Given the description of an element on the screen output the (x, y) to click on. 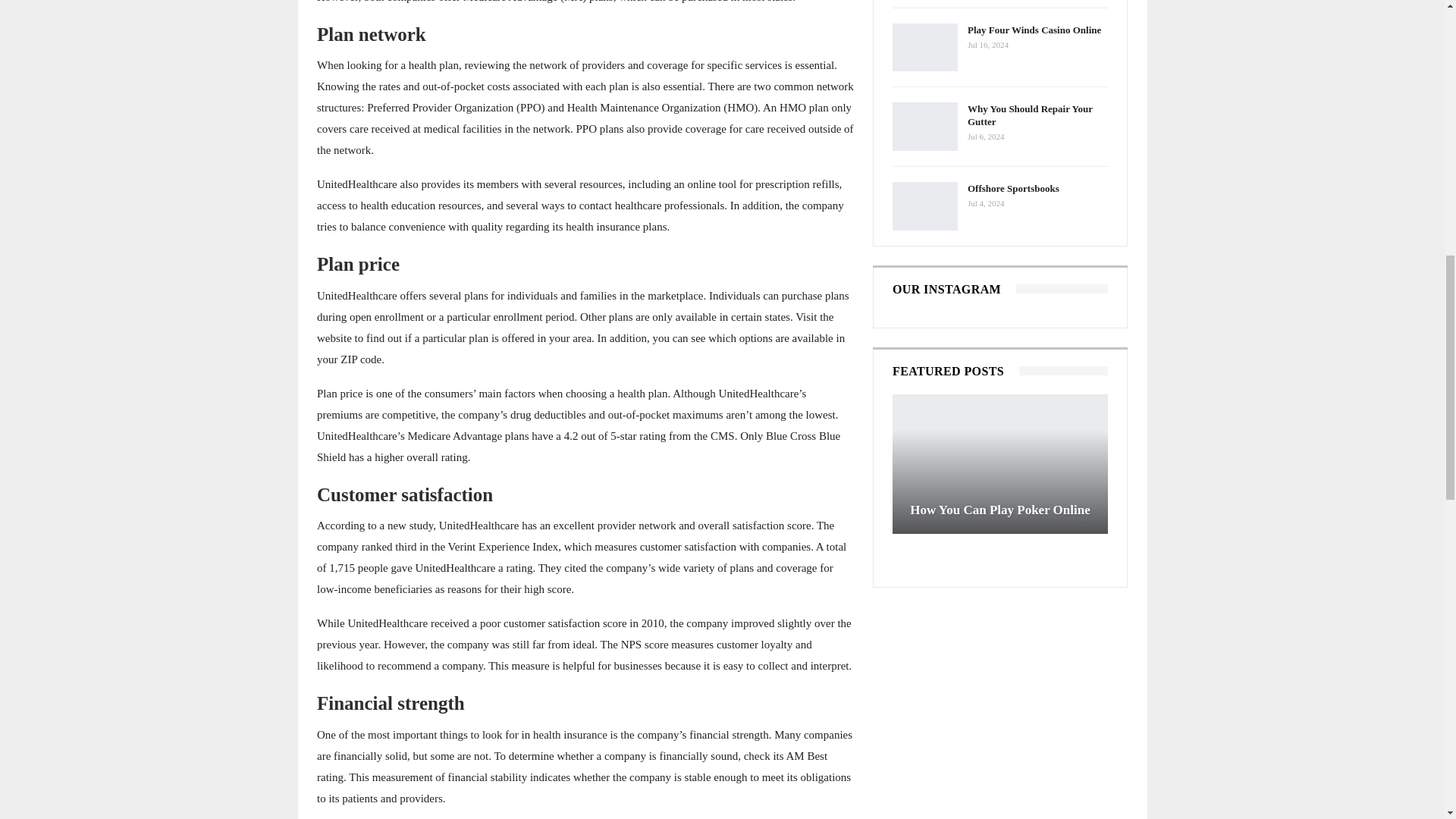
Play Four Winds Casino Online (925, 47)
